Given the description of an element on the screen output the (x, y) to click on. 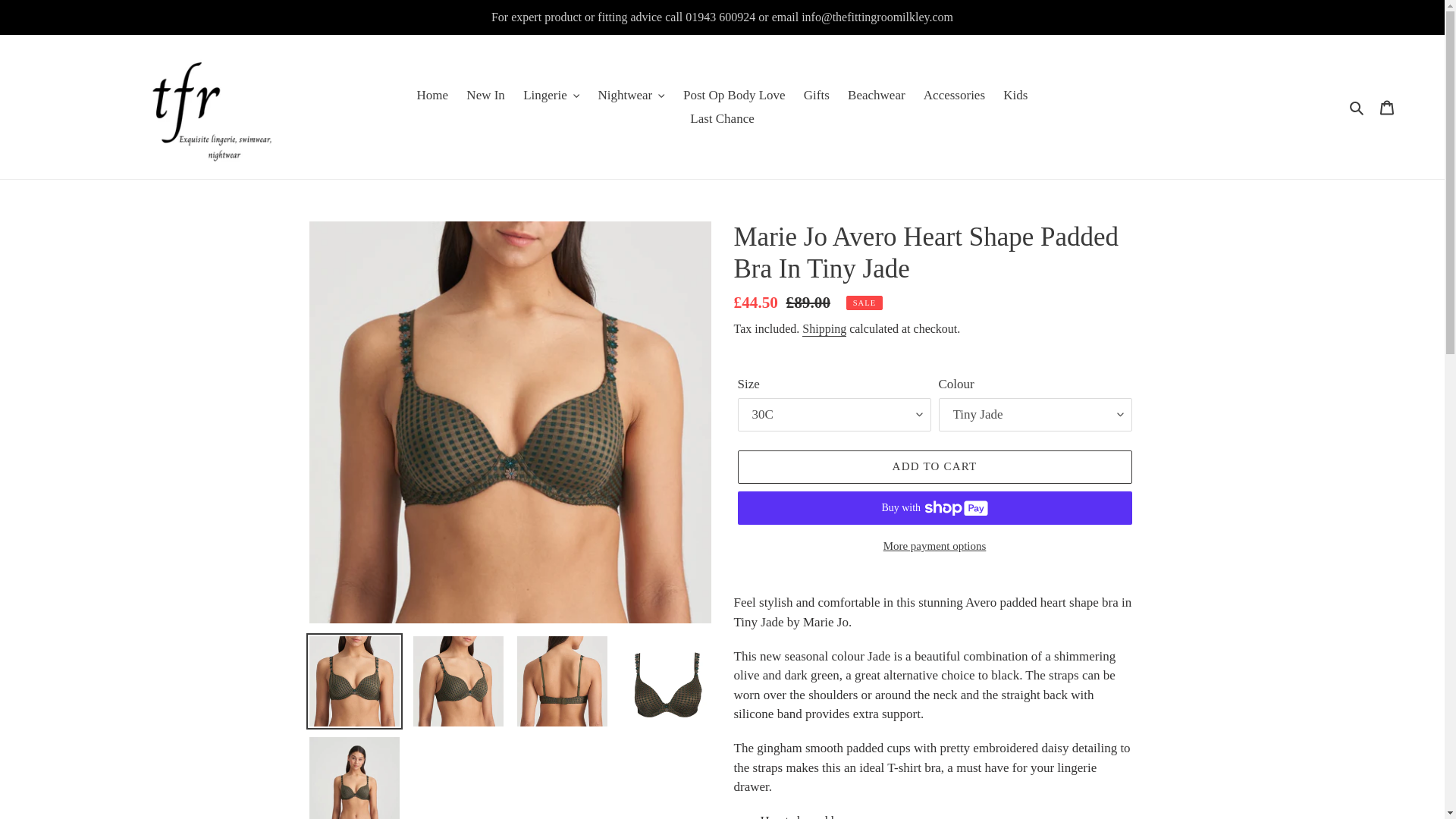
Home (433, 95)
Cart (1387, 106)
Nightwear (630, 95)
Beachwear (876, 95)
Kids (1015, 95)
Last Chance (721, 119)
Accessories (953, 95)
Gifts (816, 95)
Search (1357, 106)
New In (485, 95)
Post Op Body Love (734, 95)
Lingerie (550, 95)
